Given the description of an element on the screen output the (x, y) to click on. 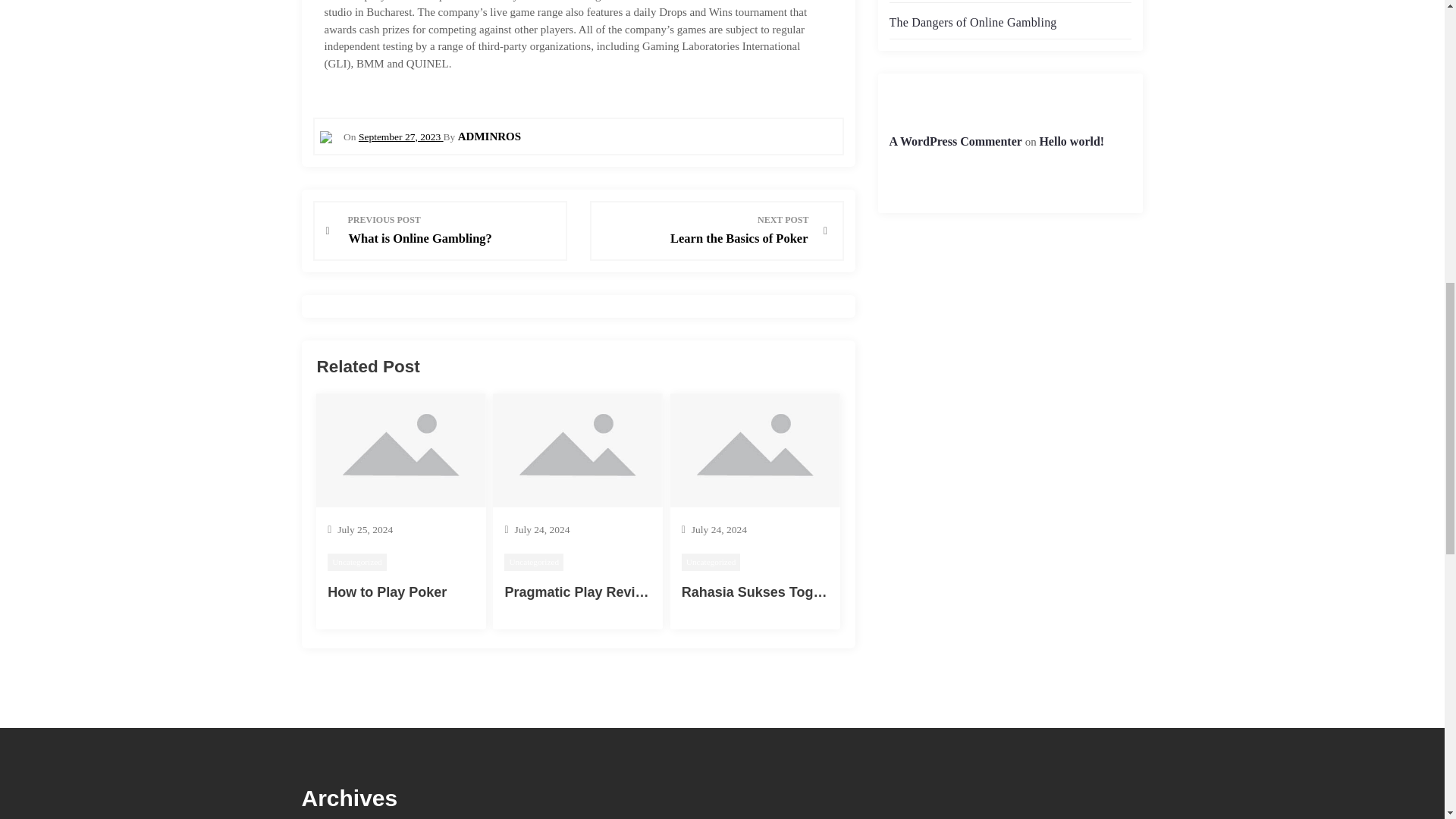
ADMINROS (489, 136)
Hello world! (1071, 141)
How to Play Poker (386, 591)
Uncategorized (357, 561)
Uncategorized (711, 561)
Pragmatic Play Review (577, 591)
Uncategorized (533, 561)
September 27, 2023 (705, 230)
Rahasia Sukses Togel Singapore: Data Keluaran SGP Terbaru! (401, 136)
The Dangers of Online Gambling (883, 591)
A WordPress Commenter (972, 21)
